Given the description of an element on the screen output the (x, y) to click on. 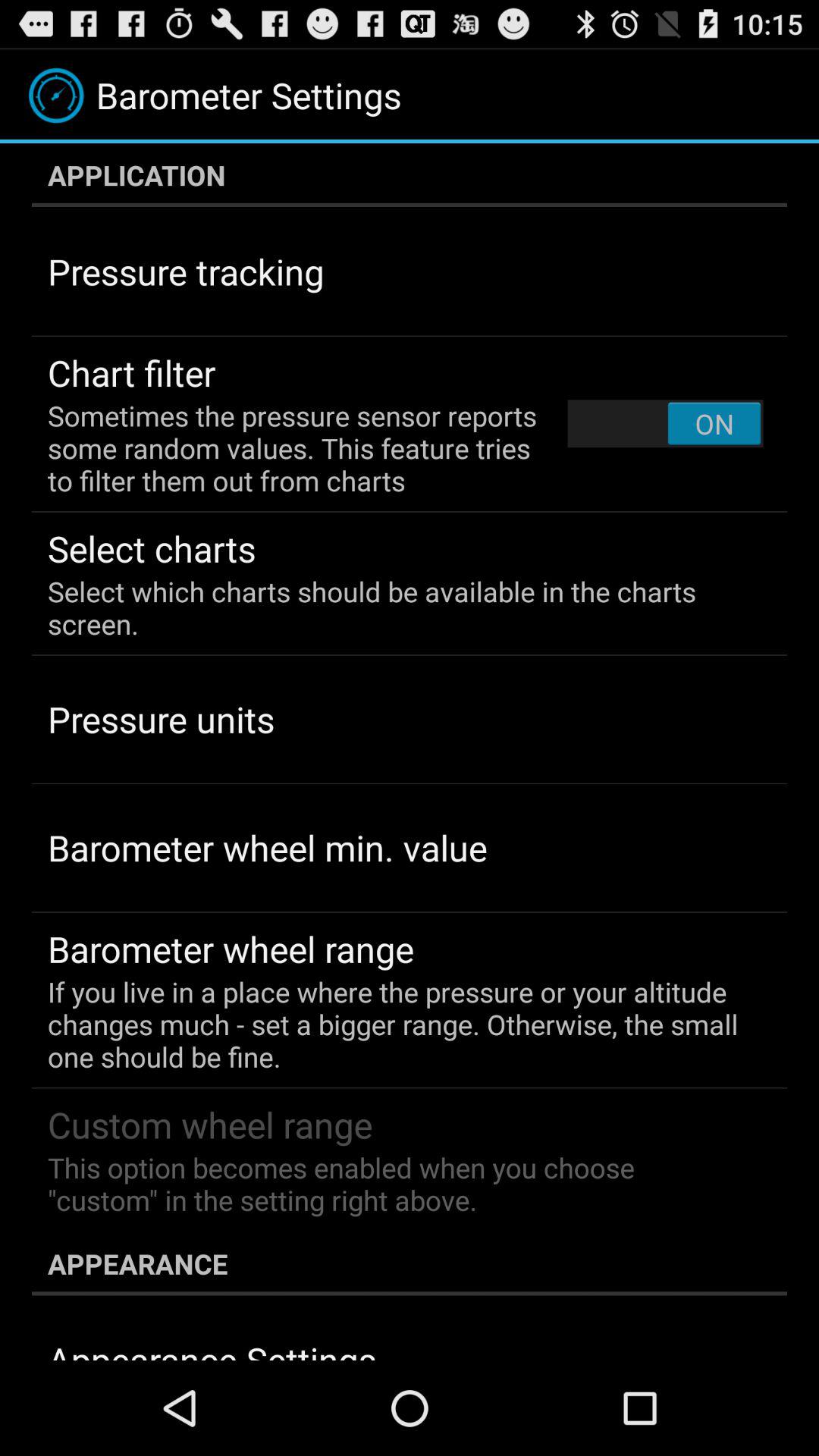
turn on item next to the sometimes the pressure (665, 423)
